Given the description of an element on the screen output the (x, y) to click on. 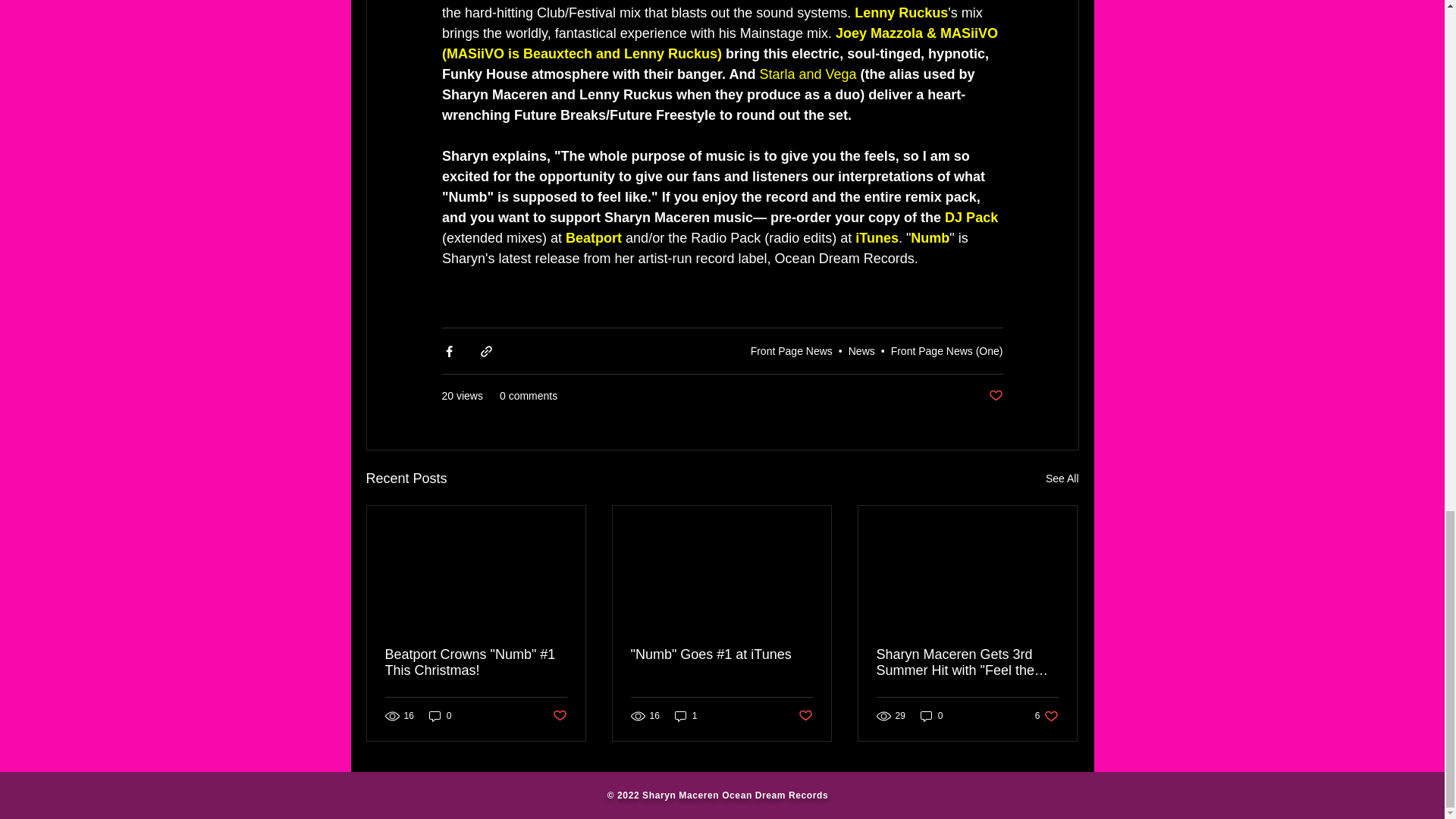
News (861, 350)
Post not marked as liked (995, 396)
0 (440, 716)
See All (1061, 478)
Front Page News (791, 350)
